Given the description of an element on the screen output the (x, y) to click on. 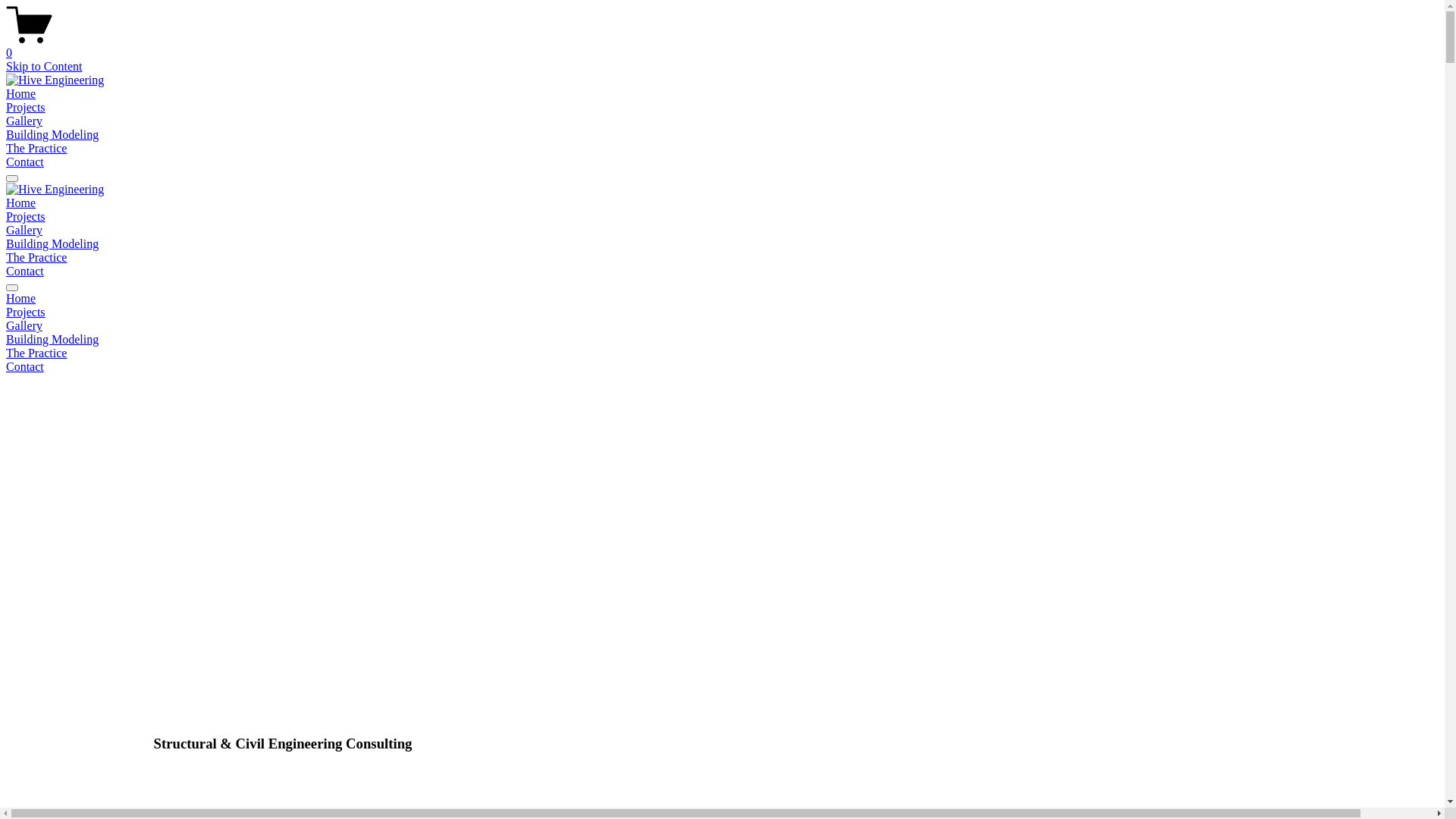
Projects Element type: text (25, 216)
The Practice Element type: text (36, 257)
Contact Element type: text (24, 270)
Building Modeling Element type: text (52, 134)
Contact Element type: text (722, 366)
Home Element type: text (722, 298)
Projects Element type: text (722, 312)
The Practice Element type: text (722, 353)
Contact Element type: text (24, 161)
Home Element type: text (20, 202)
Building Modeling Element type: text (722, 339)
Home Element type: text (20, 93)
Skip to Content Element type: text (43, 65)
Projects Element type: text (25, 106)
The Practice Element type: text (36, 147)
0 Element type: text (722, 45)
Gallery Element type: text (24, 120)
Building Modeling Element type: text (52, 243)
Gallery Element type: text (722, 325)
Gallery Element type: text (24, 229)
